Given the description of an element on the screen output the (x, y) to click on. 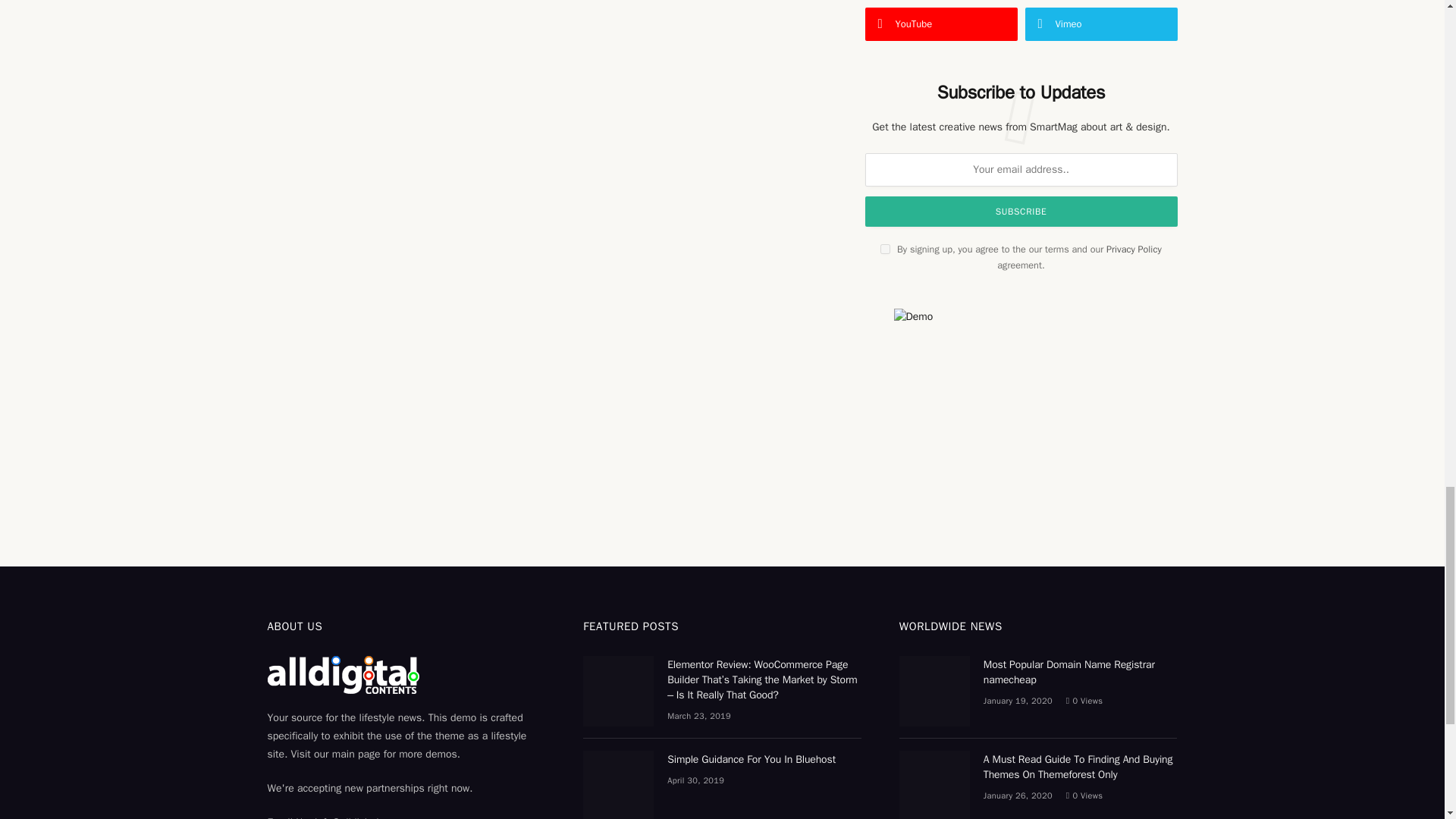
on (884, 248)
Subscribe (1020, 211)
